Given the description of an element on the screen output the (x, y) to click on. 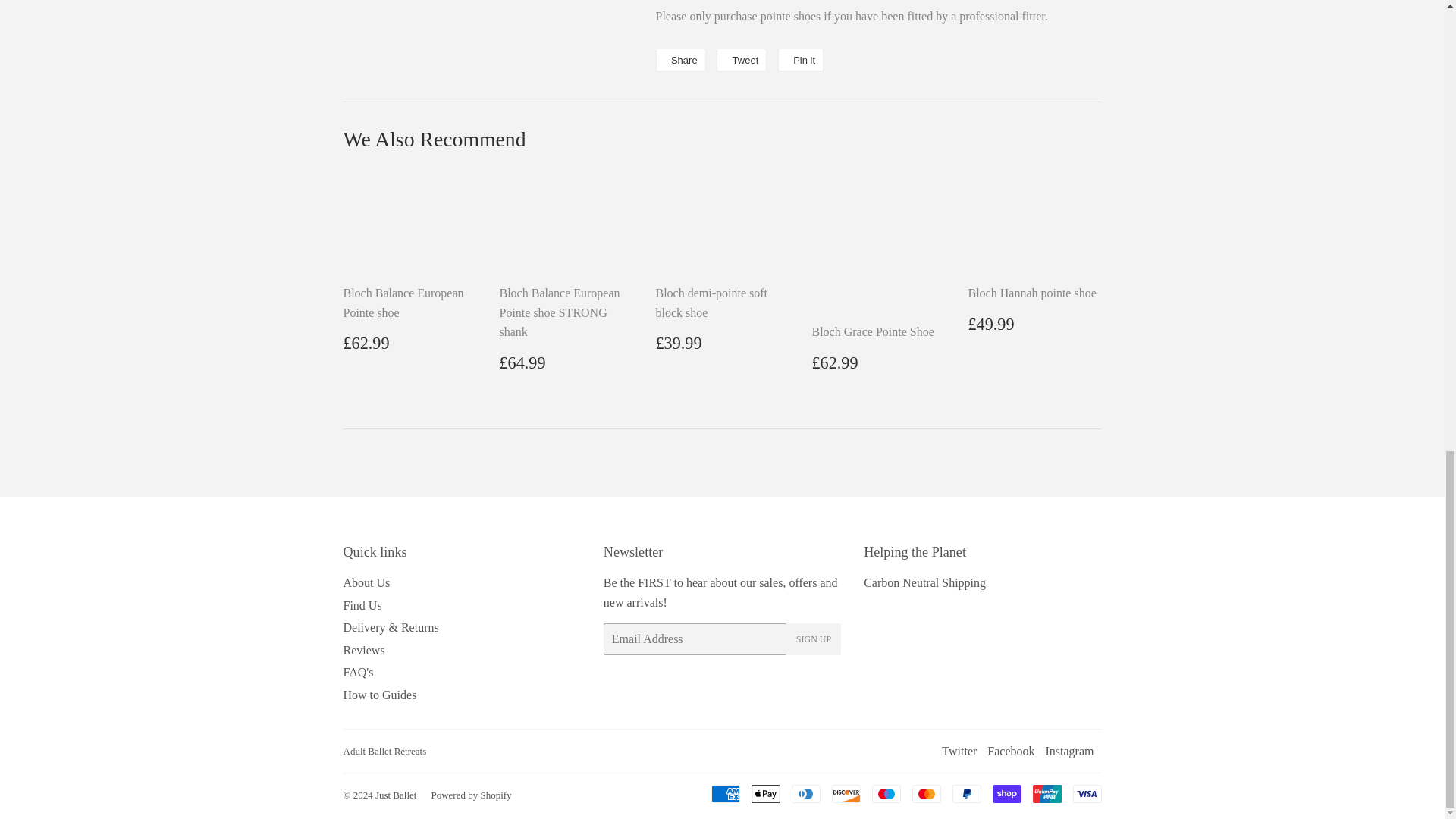
Mastercard (925, 793)
Just Ballet on Facebook (1010, 750)
Just Ballet on Twitter (959, 750)
PayPal (966, 793)
Union Pay (1046, 793)
Shop Pay (1005, 793)
Share on Facebook (679, 59)
Just Ballet on Instagram (1069, 750)
Maestro (886, 793)
Diners Club (806, 793)
